Given the description of an element on the screen output the (x, y) to click on. 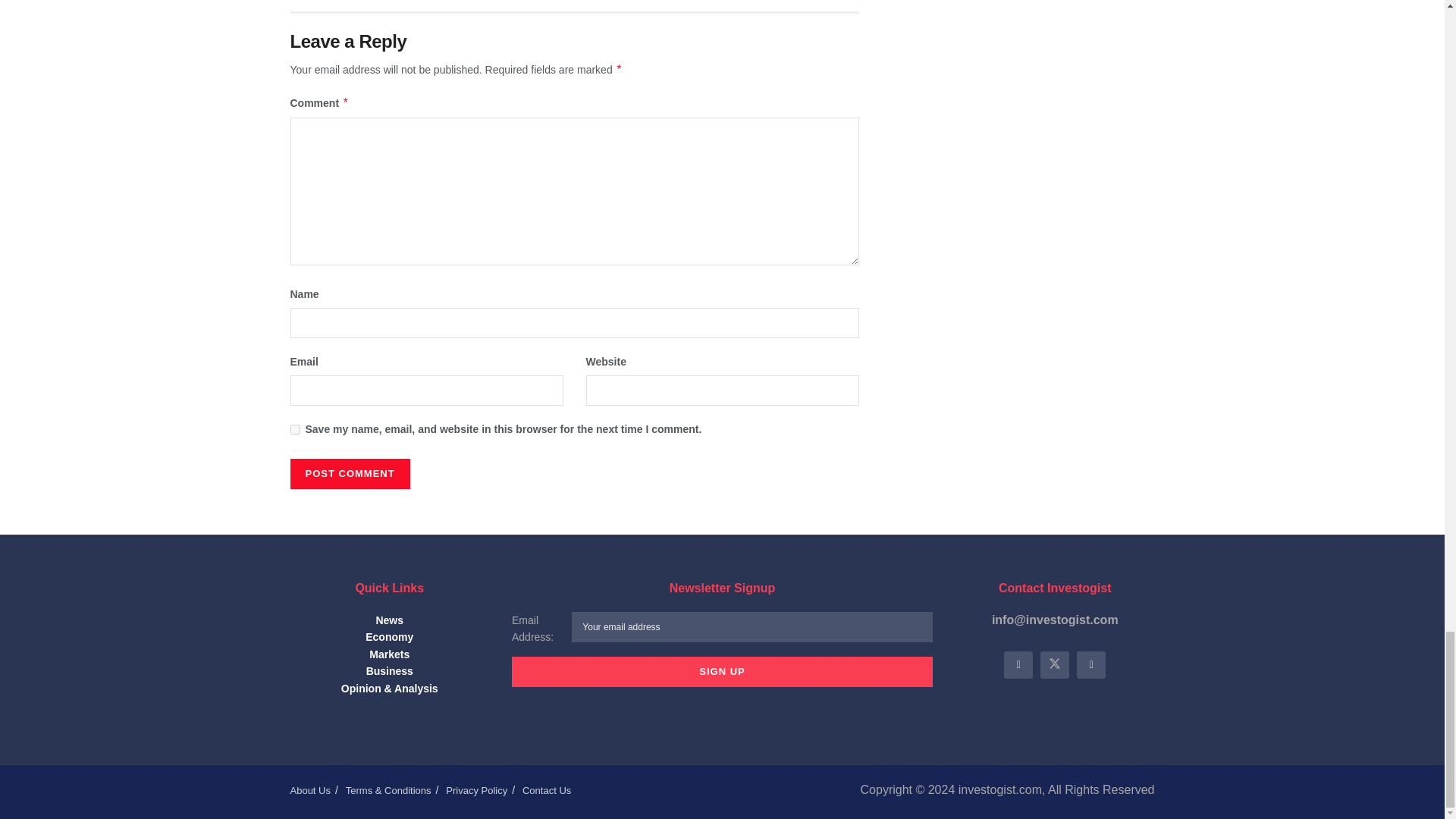
yes (294, 429)
Post Comment (349, 473)
Sign up (722, 671)
